Given the description of an element on the screen output the (x, y) to click on. 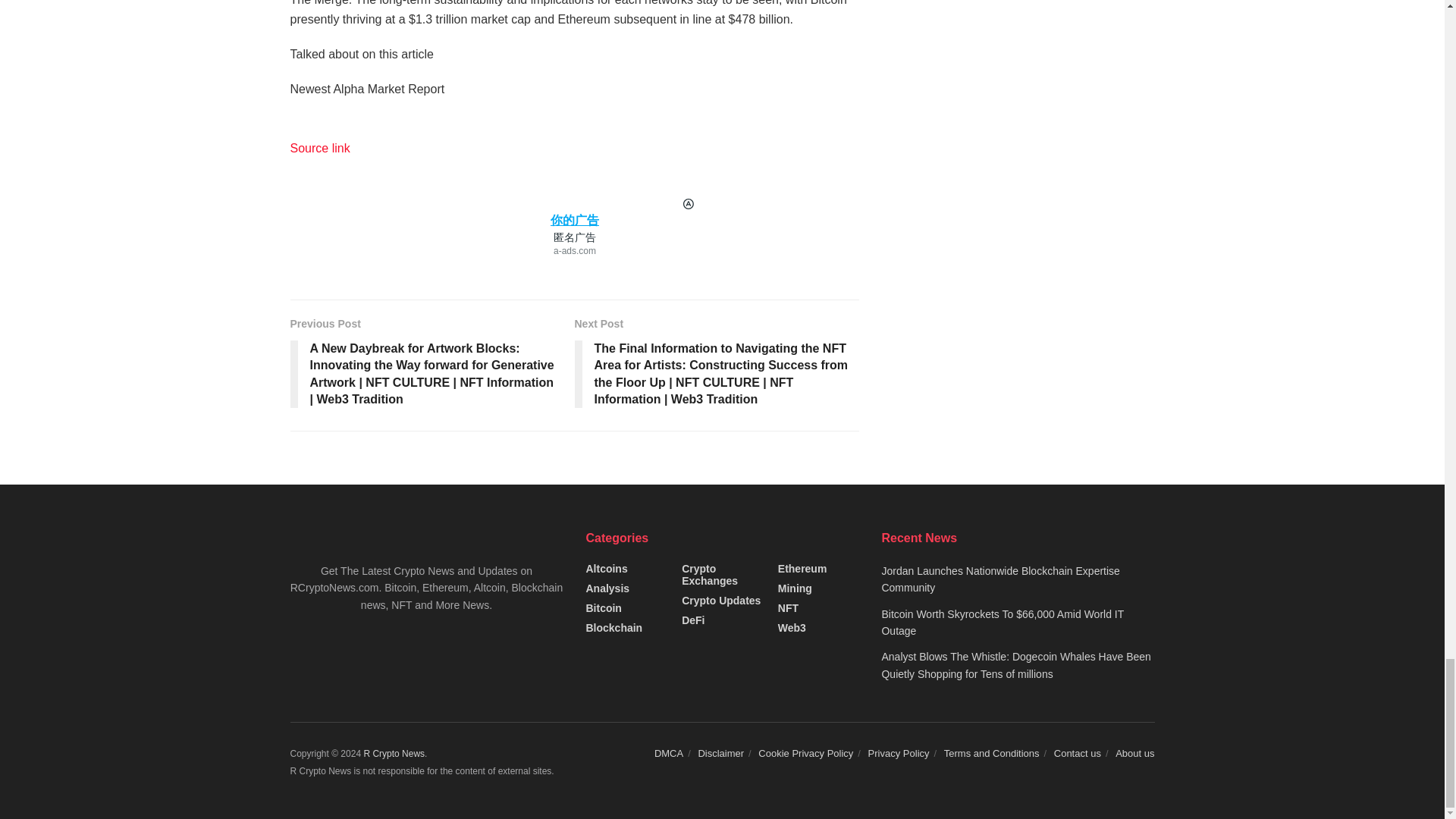
R Crypto News (393, 753)
